Given the description of an element on the screen output the (x, y) to click on. 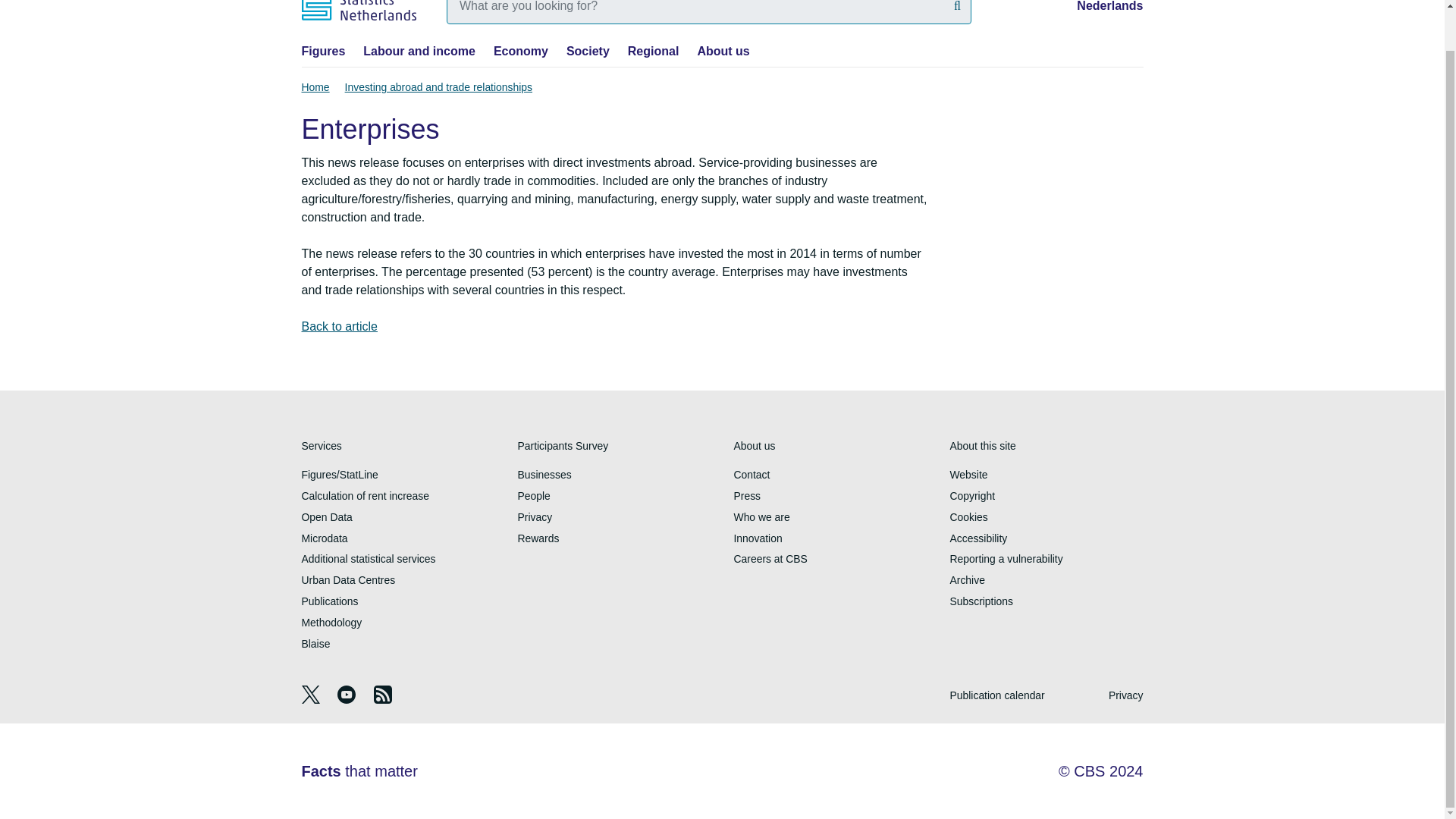
RSS (382, 699)
Labour and income (419, 51)
Economy (520, 51)
CBS home (358, 10)
Search (957, 7)
Regional (653, 51)
X (312, 699)
YouTube (347, 699)
About us (723, 51)
Figures (323, 51)
